Given the description of an element on the screen output the (x, y) to click on. 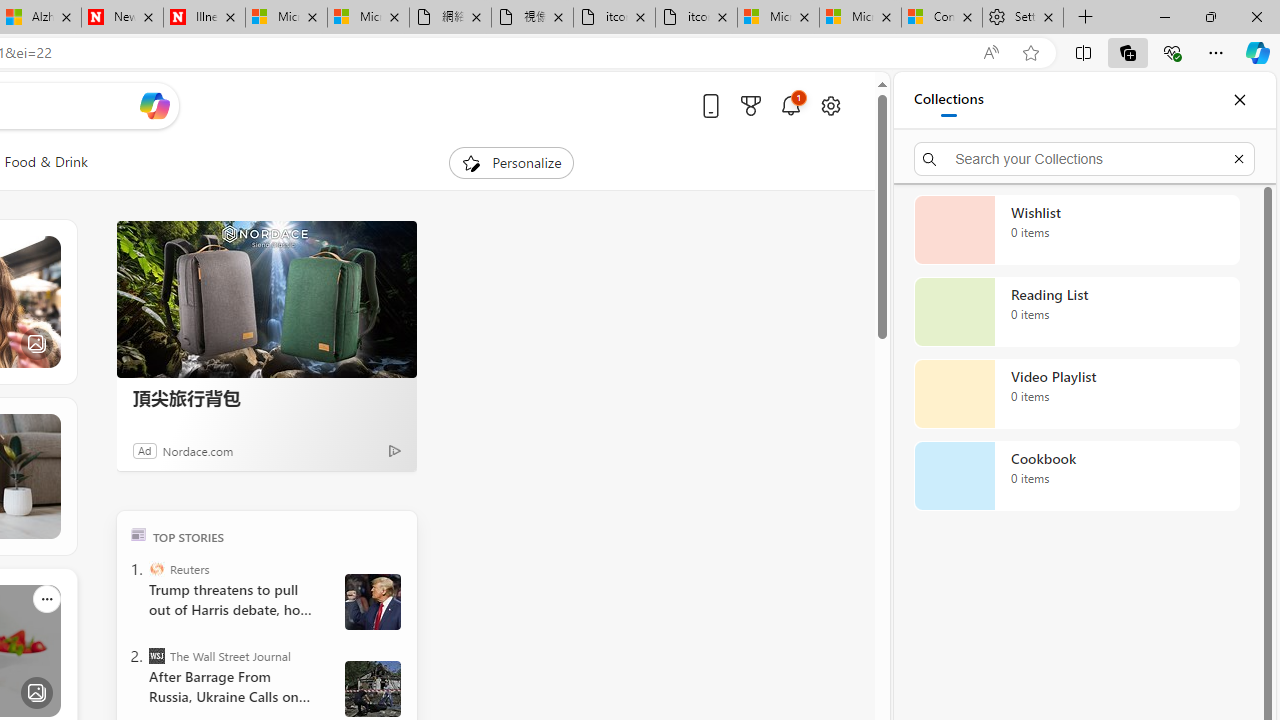
Notifications (790, 105)
Video Playlist collection, 0 items (1076, 394)
Microsoft account | Privacy (860, 17)
The Wall Street Journal (156, 655)
Ad (145, 450)
Reading List collection, 0 items (1076, 312)
